Given the description of an element on the screen output the (x, y) to click on. 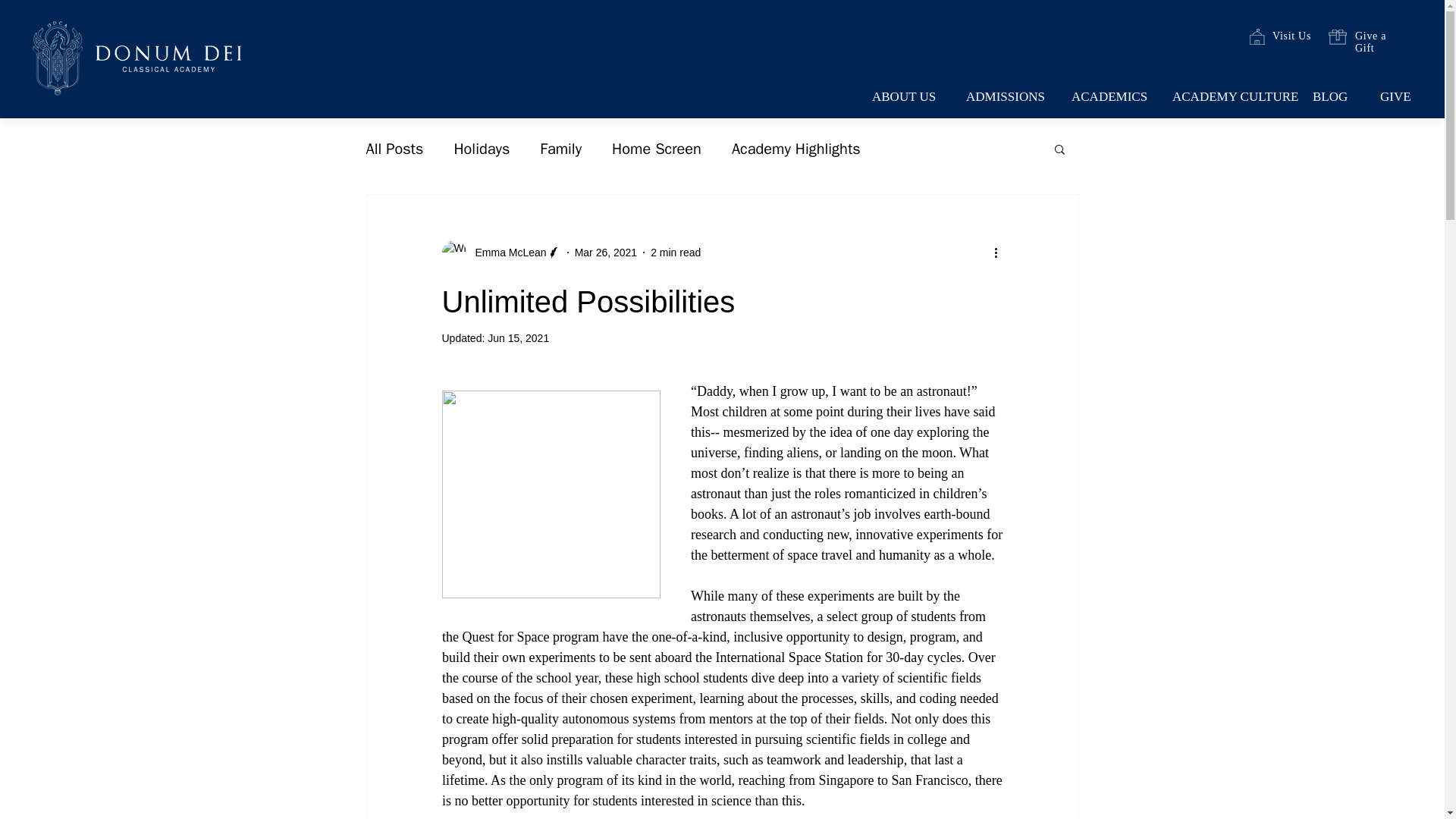
Family (560, 148)
Visit Us (1291, 35)
2 min read (675, 251)
Academy Highlights (796, 148)
GIVE (1398, 96)
Emma McLean (505, 252)
Jun 15, 2021 (517, 337)
Holidays (480, 148)
BLOG (1334, 96)
Emma McLean (500, 252)
